Given the description of an element on the screen output the (x, y) to click on. 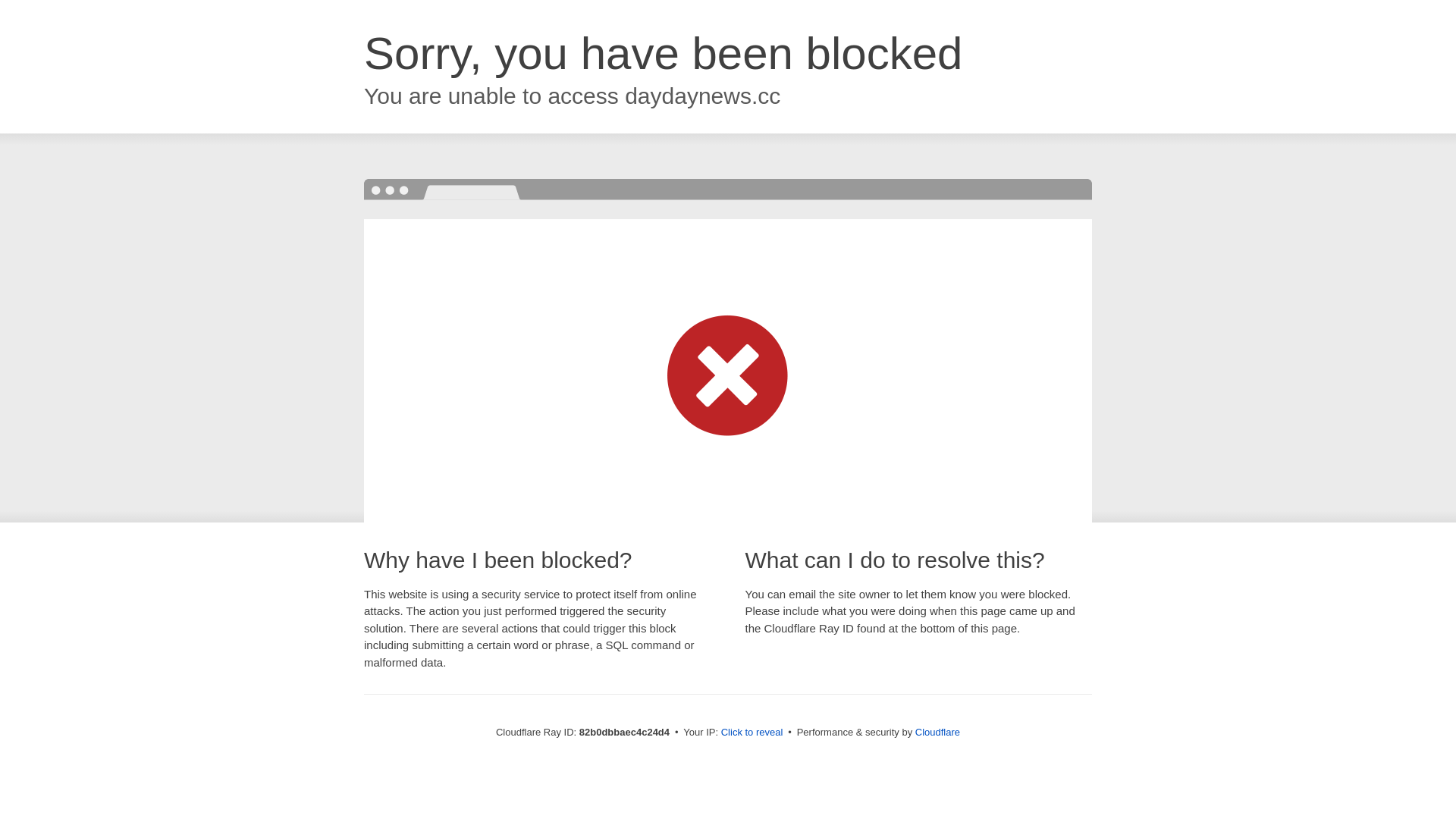
Click to reveal Element type: text (752, 732)
Cloudflare Element type: text (937, 731)
